Given the description of an element on the screen output the (x, y) to click on. 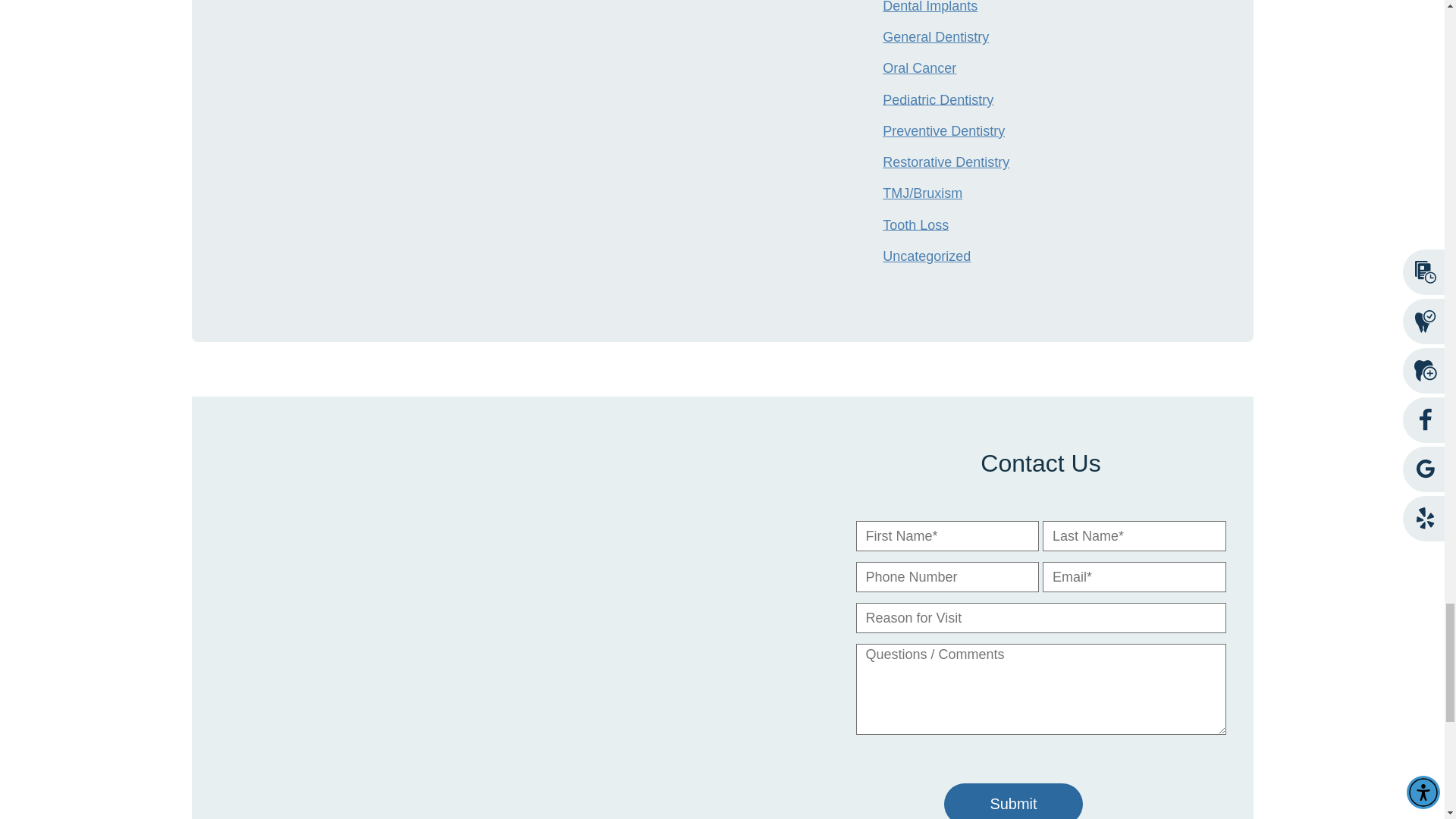
Submit (1012, 800)
